Given the description of an element on the screen output the (x, y) to click on. 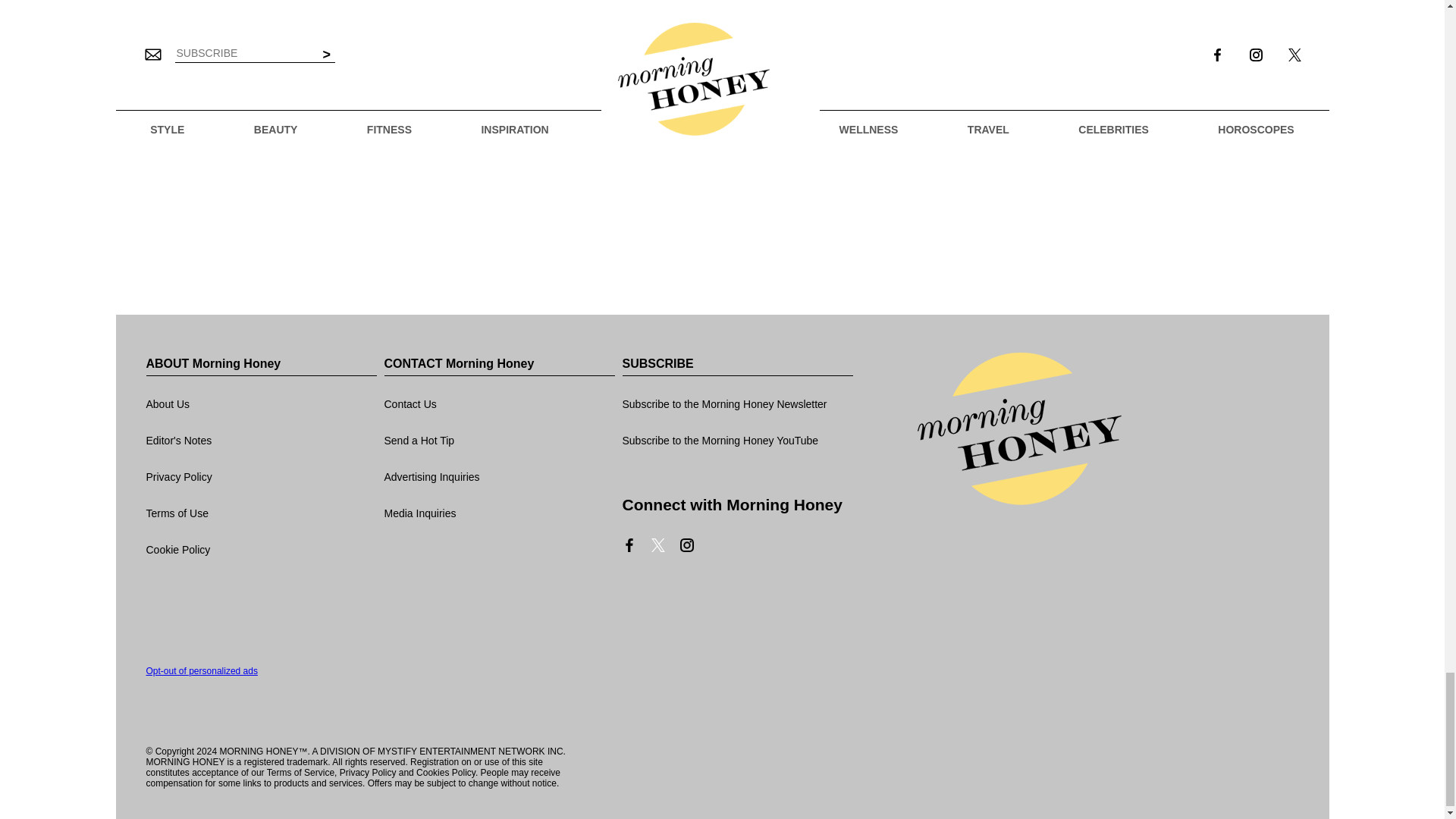
Link to Facebook (627, 545)
Media Inquiries (499, 514)
Link to Instagram (686, 545)
Contact Us (499, 404)
Subscribe to the Morning Honey Newsletter (736, 404)
Editor's Notes (260, 441)
Terms of Use (260, 514)
Link to X (656, 545)
About Us (260, 404)
Cookie Policy (260, 550)
